Given the description of an element on the screen output the (x, y) to click on. 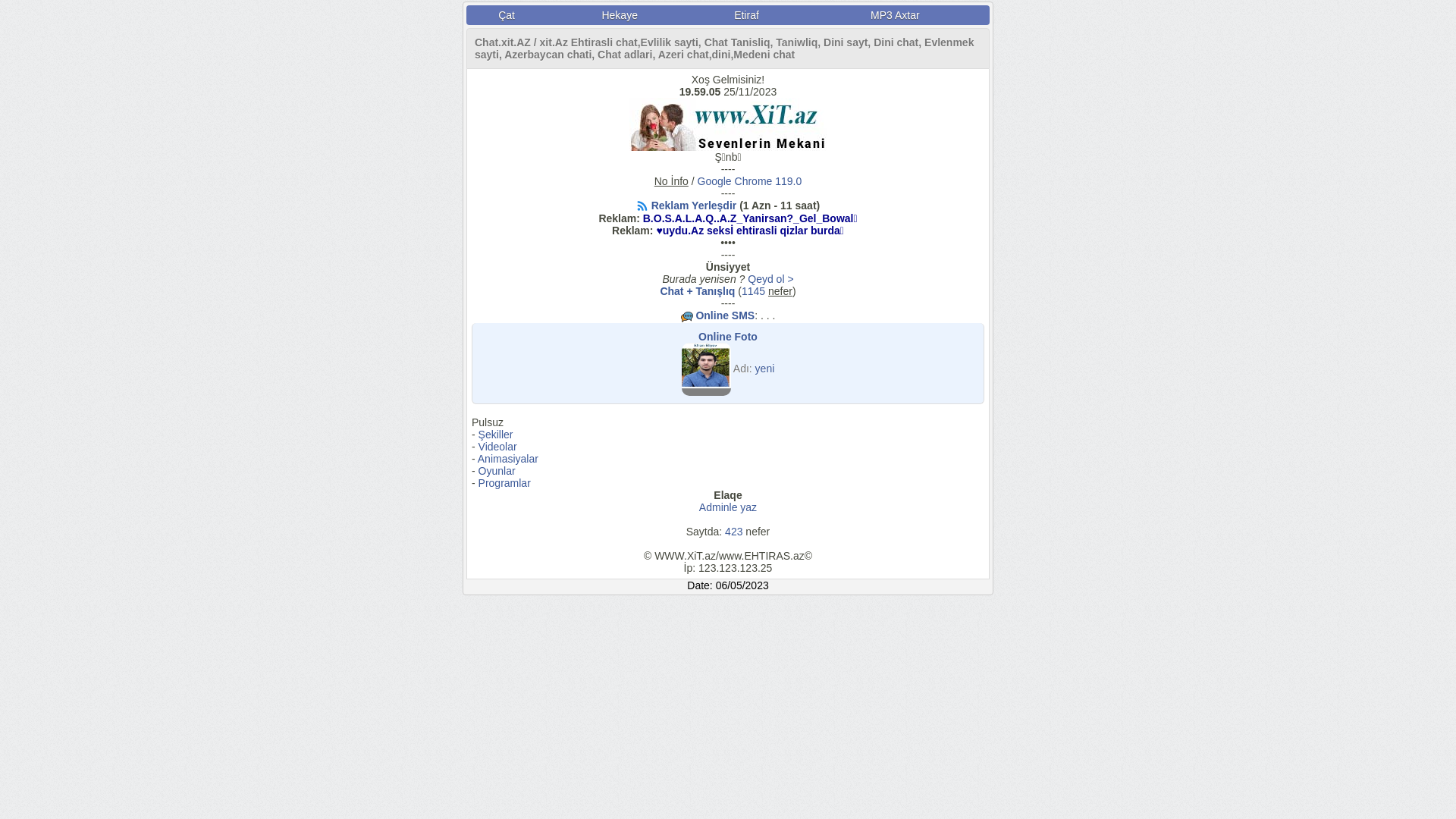
Etiraf Element type: text (746, 15)
Programlar Element type: text (504, 482)
Oyunlar Element type: text (496, 470)
Qeyd ol > Element type: text (770, 279)
Google Chrome 119.0 Element type: text (749, 181)
yeni Element type: text (765, 367)
MP3 Axtar Element type: text (894, 15)
Hekaye Element type: text (619, 15)
Videolar Element type: text (497, 446)
423 Element type: text (733, 531)
Adminle yaz Element type: text (727, 507)
Online SMS Element type: text (724, 315)
Online Foto Element type: text (727, 336)
1145 Element type: text (753, 291)
Animasiyalar Element type: text (507, 458)
